Given the description of an element on the screen output the (x, y) to click on. 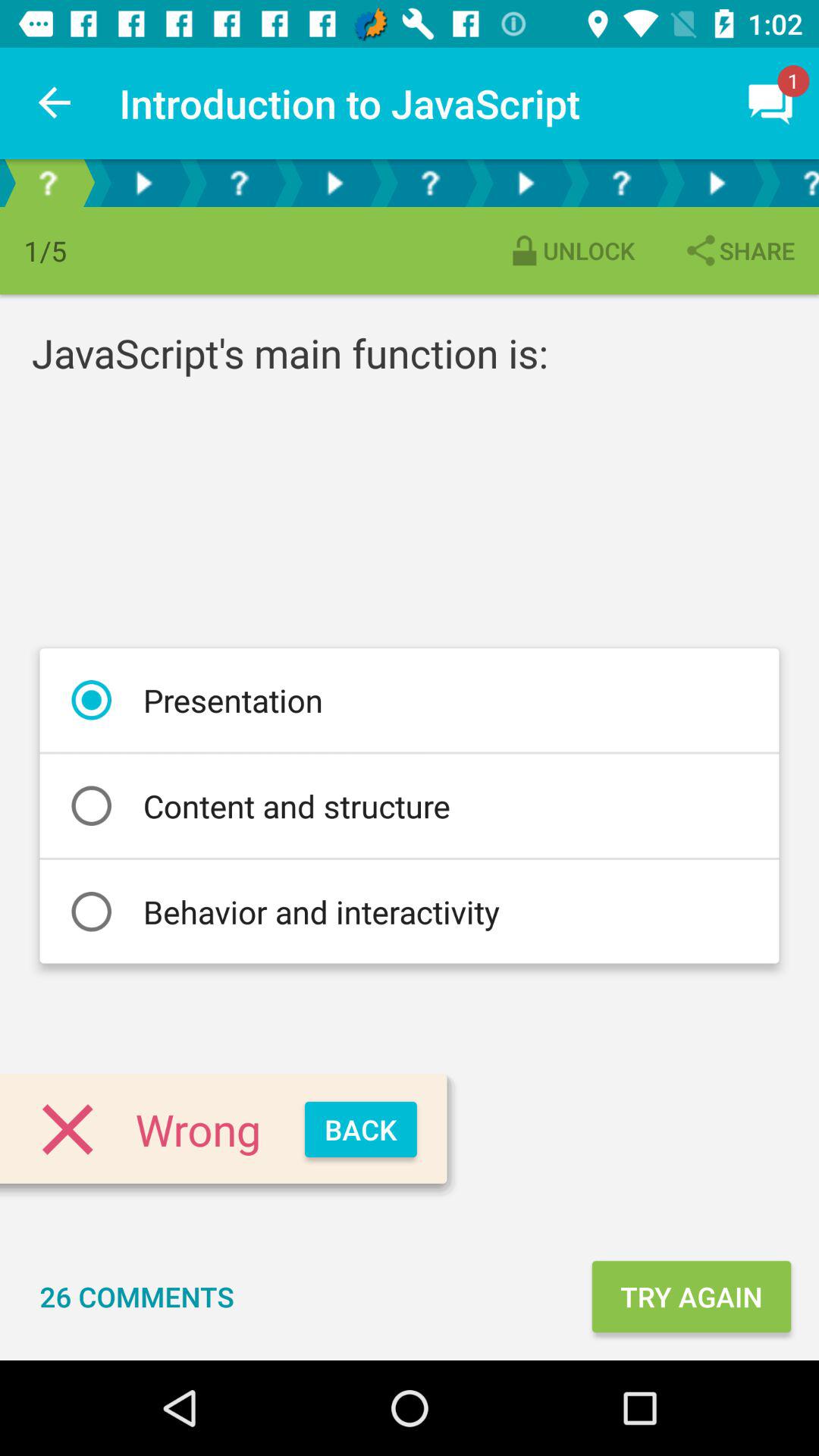
help (429, 183)
